Given the description of an element on the screen output the (x, y) to click on. 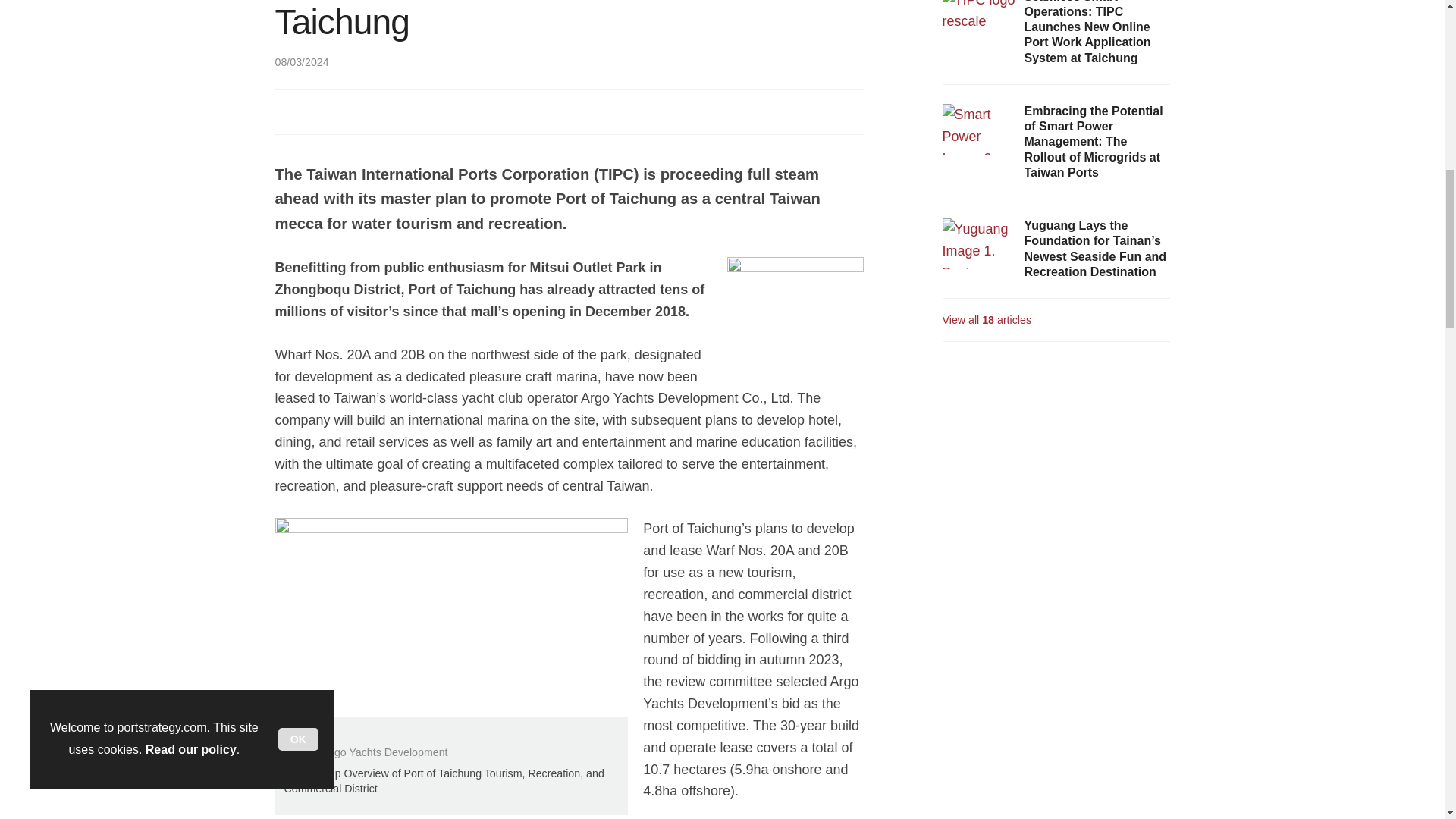
Share this on Twitter (320, 111)
Share this on Facebook (288, 111)
Share this on Linked in (352, 111)
